Given the description of an element on the screen output the (x, y) to click on. 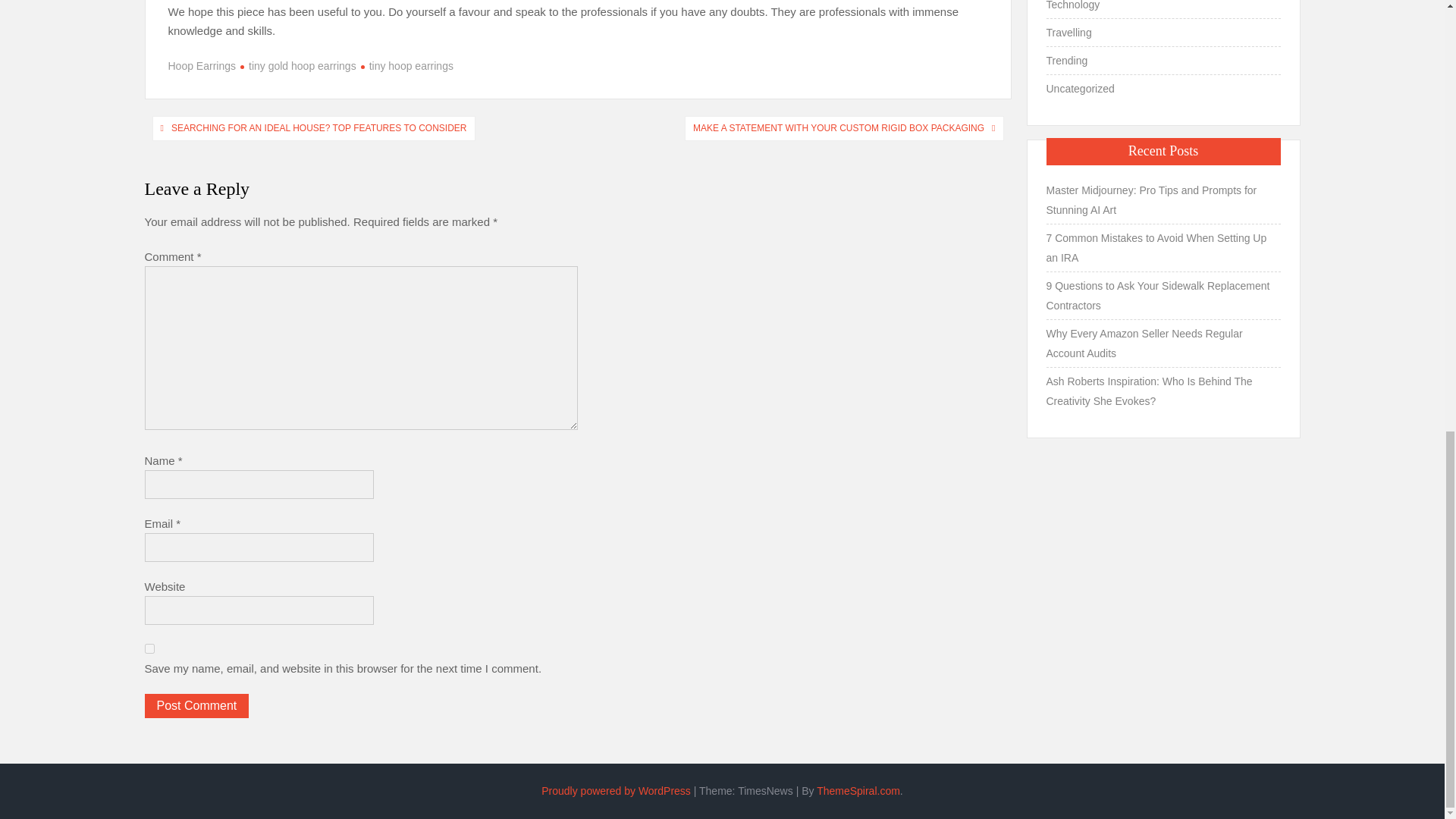
yes (149, 648)
Post Comment (196, 705)
